Given the description of an element on the screen output the (x, y) to click on. 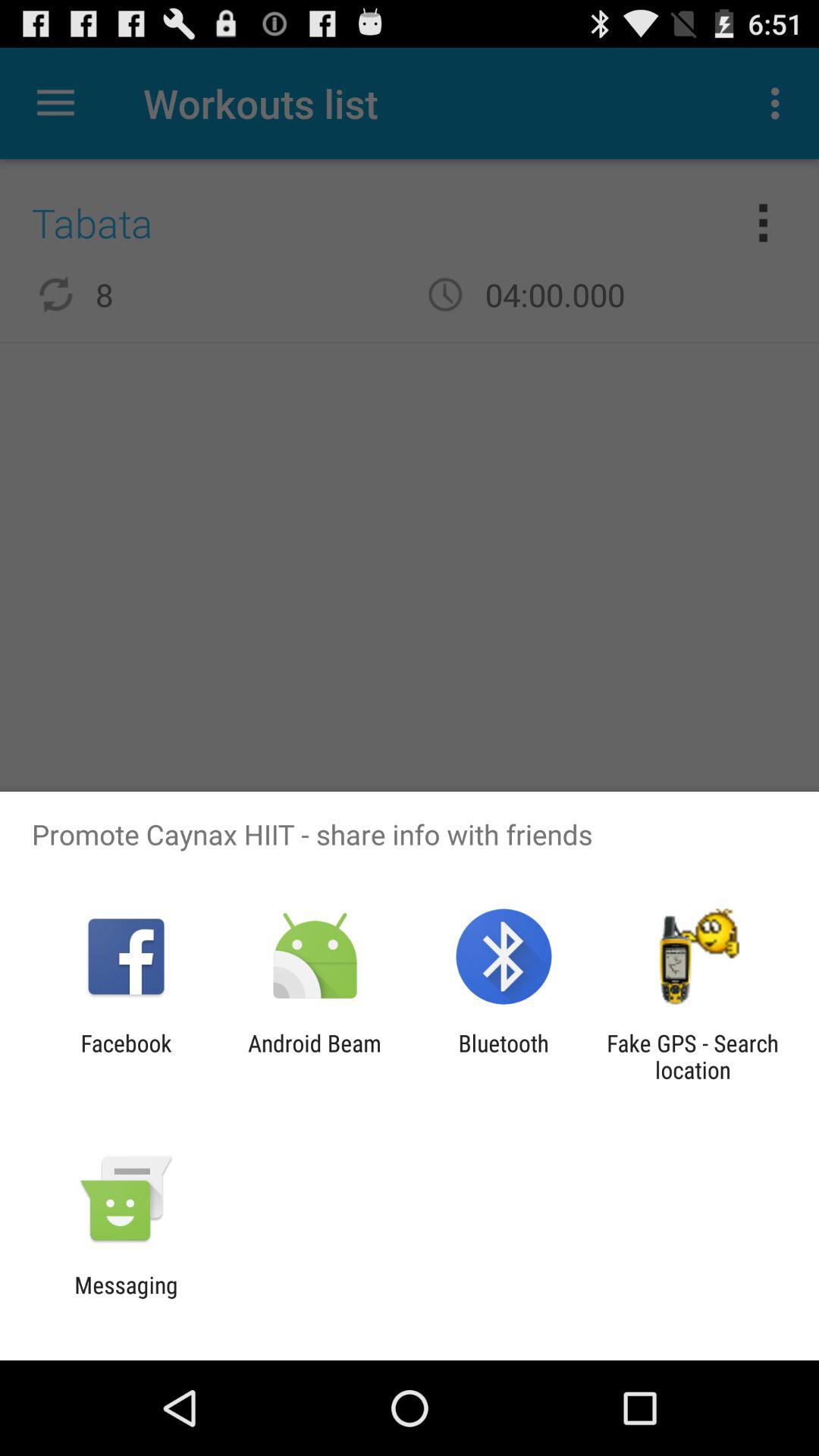
swipe to the android beam item (314, 1056)
